Given the description of an element on the screen output the (x, y) to click on. 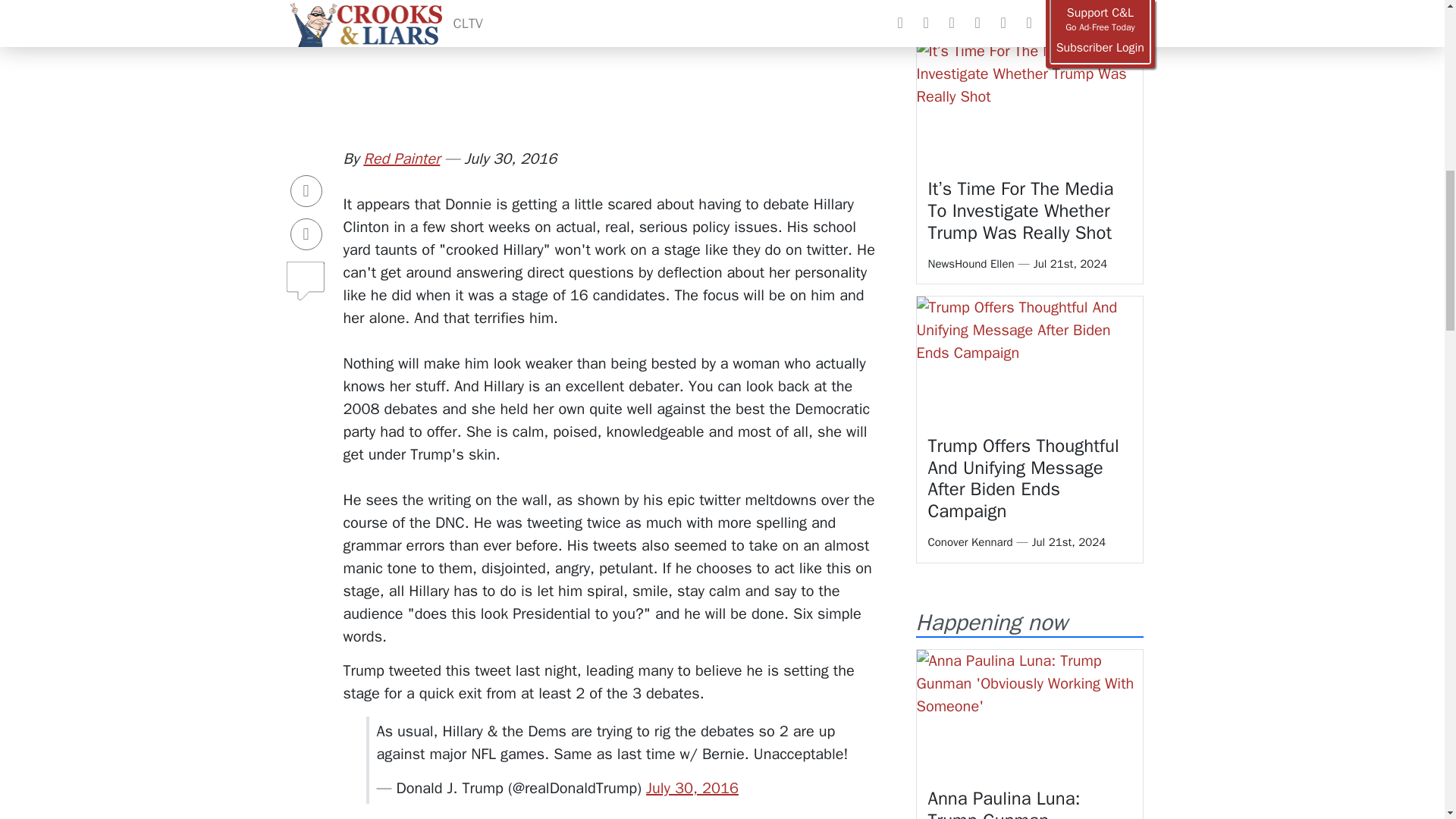
Red Painter (400, 158)
Join in the discussion (306, 279)
Share on Twitter (306, 229)
Comments (306, 270)
Red Painter (400, 158)
Share on Facebook (306, 186)
July 30, 2016 (692, 787)
